Given the description of an element on the screen output the (x, y) to click on. 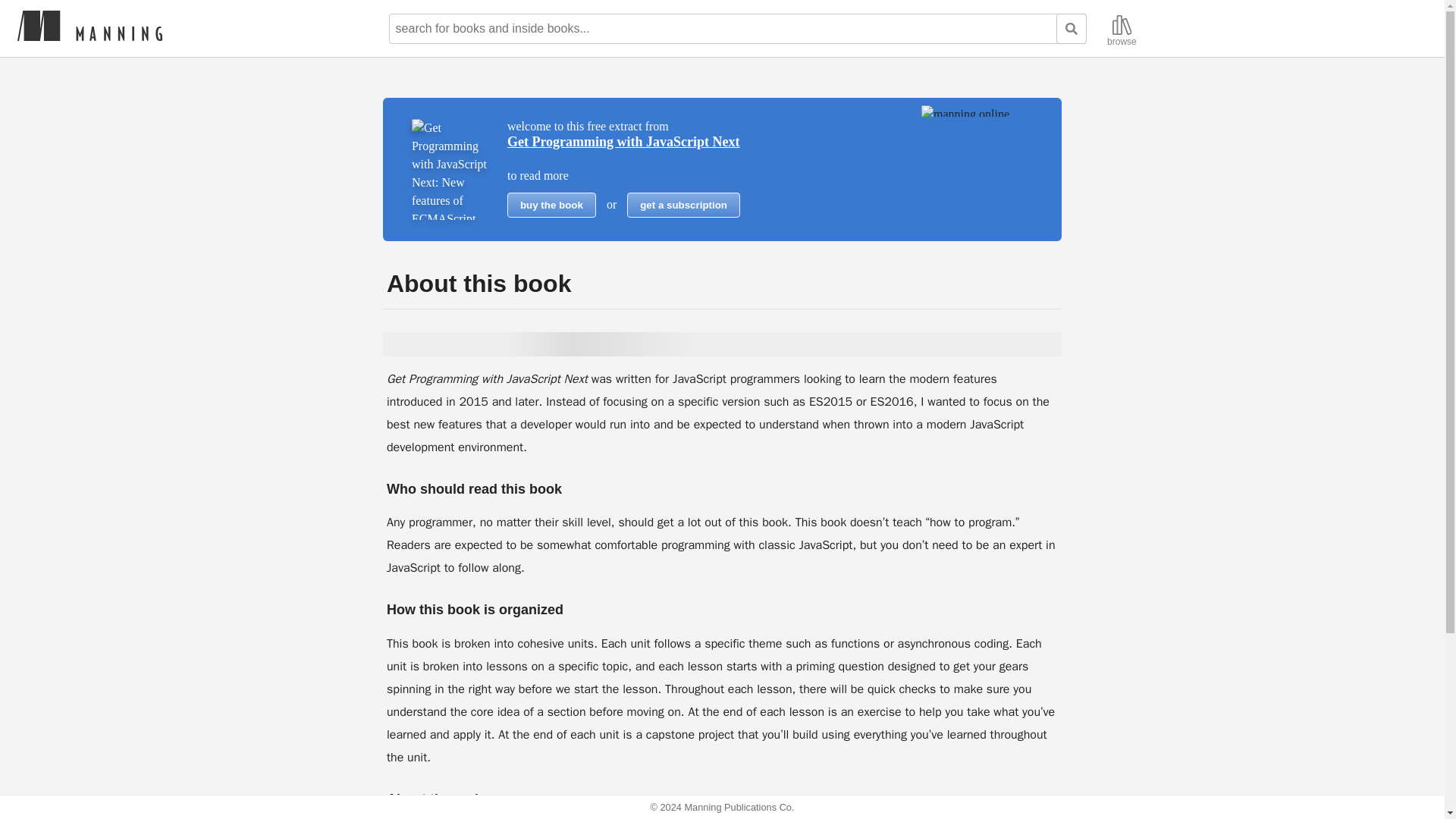
buy the book (550, 204)
Get Programming with JavaScript Next (622, 141)
get a subscription (683, 204)
